Given the description of an element on the screen output the (x, y) to click on. 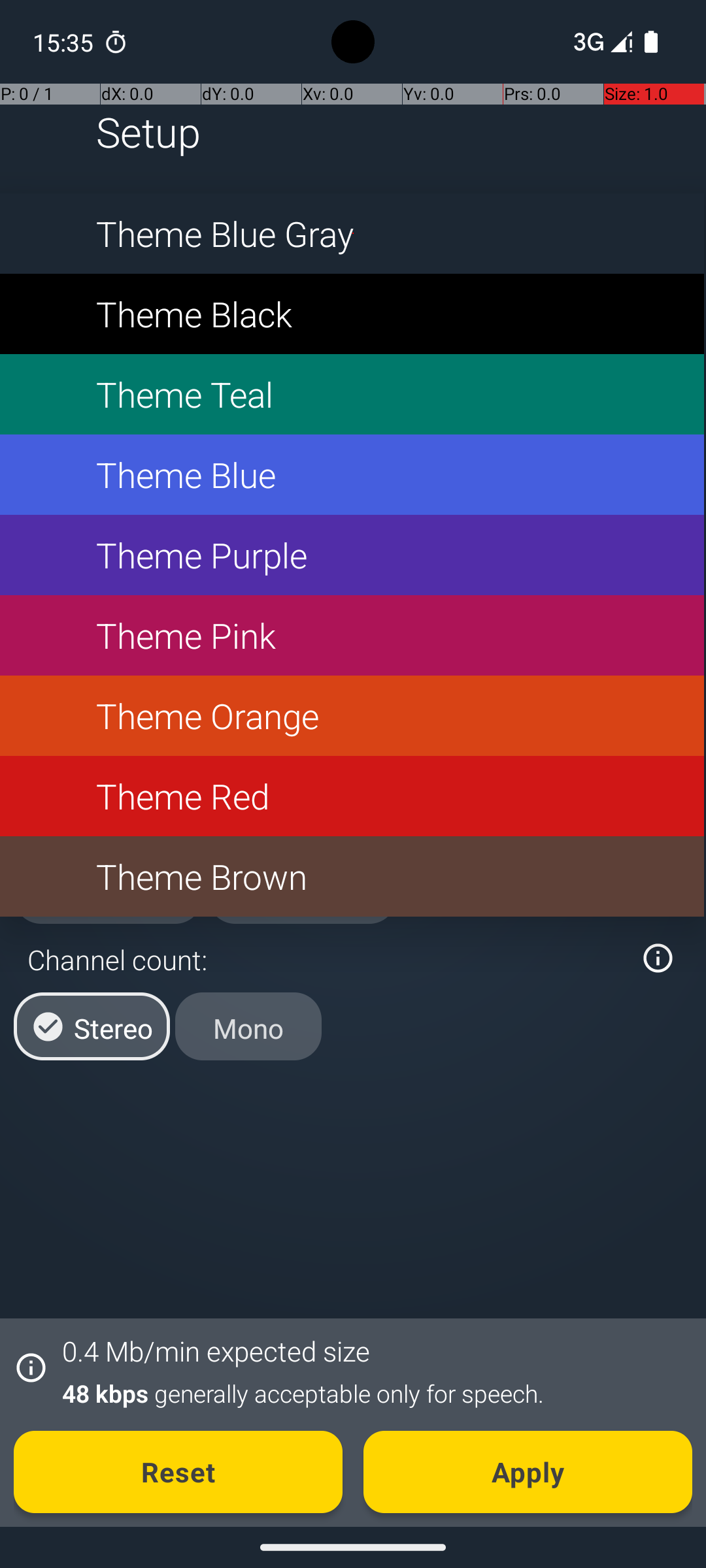
Theme Black Element type: android.widget.TextView (352, 313)
Theme Pink Element type: android.widget.TextView (352, 635)
Theme Orange Element type: android.widget.TextView (352, 715)
Theme Brown Element type: android.widget.TextView (352, 876)
